Given the description of an element on the screen output the (x, y) to click on. 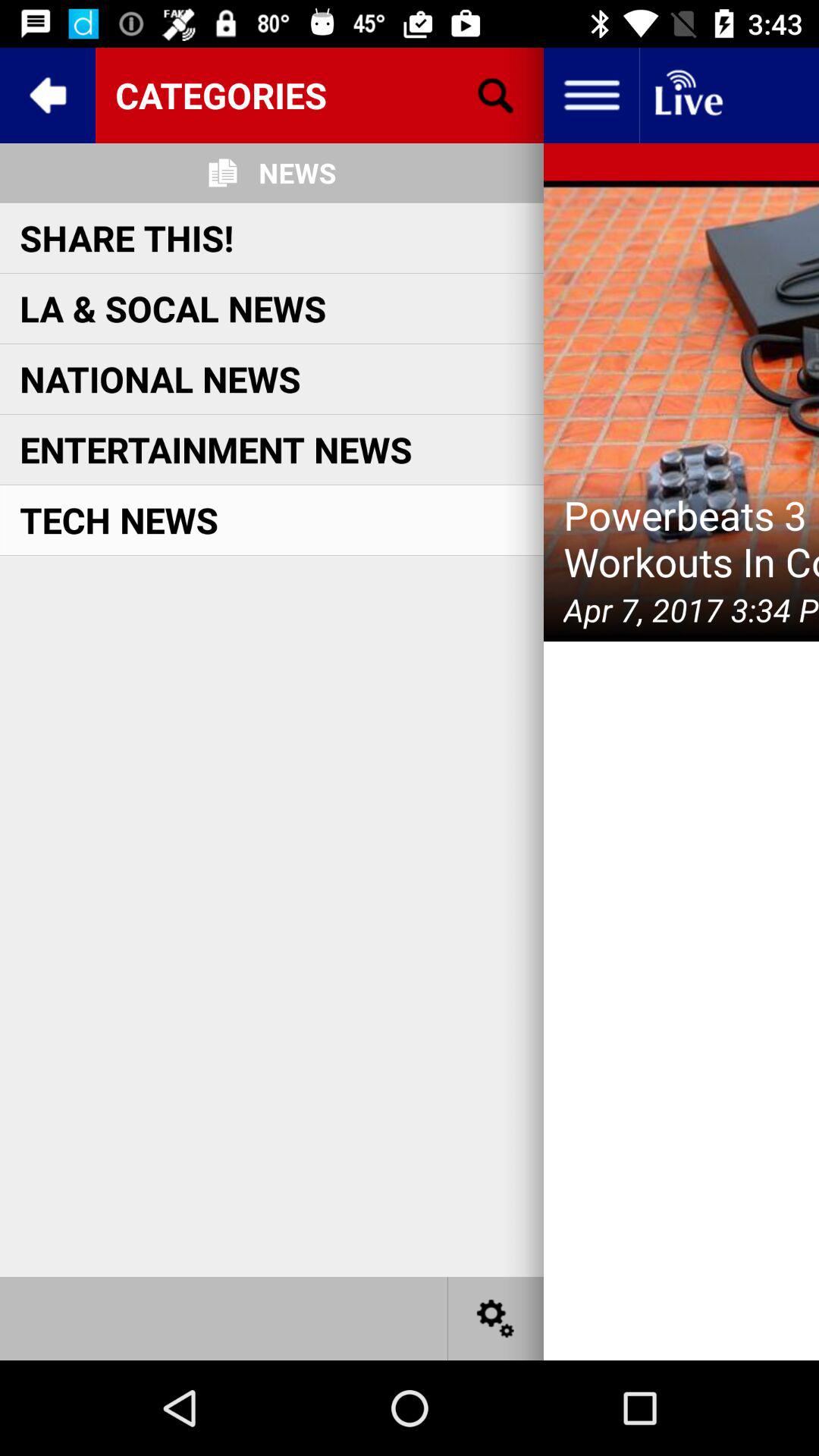
flip until entertainment news icon (215, 449)
